Given the description of an element on the screen output the (x, y) to click on. 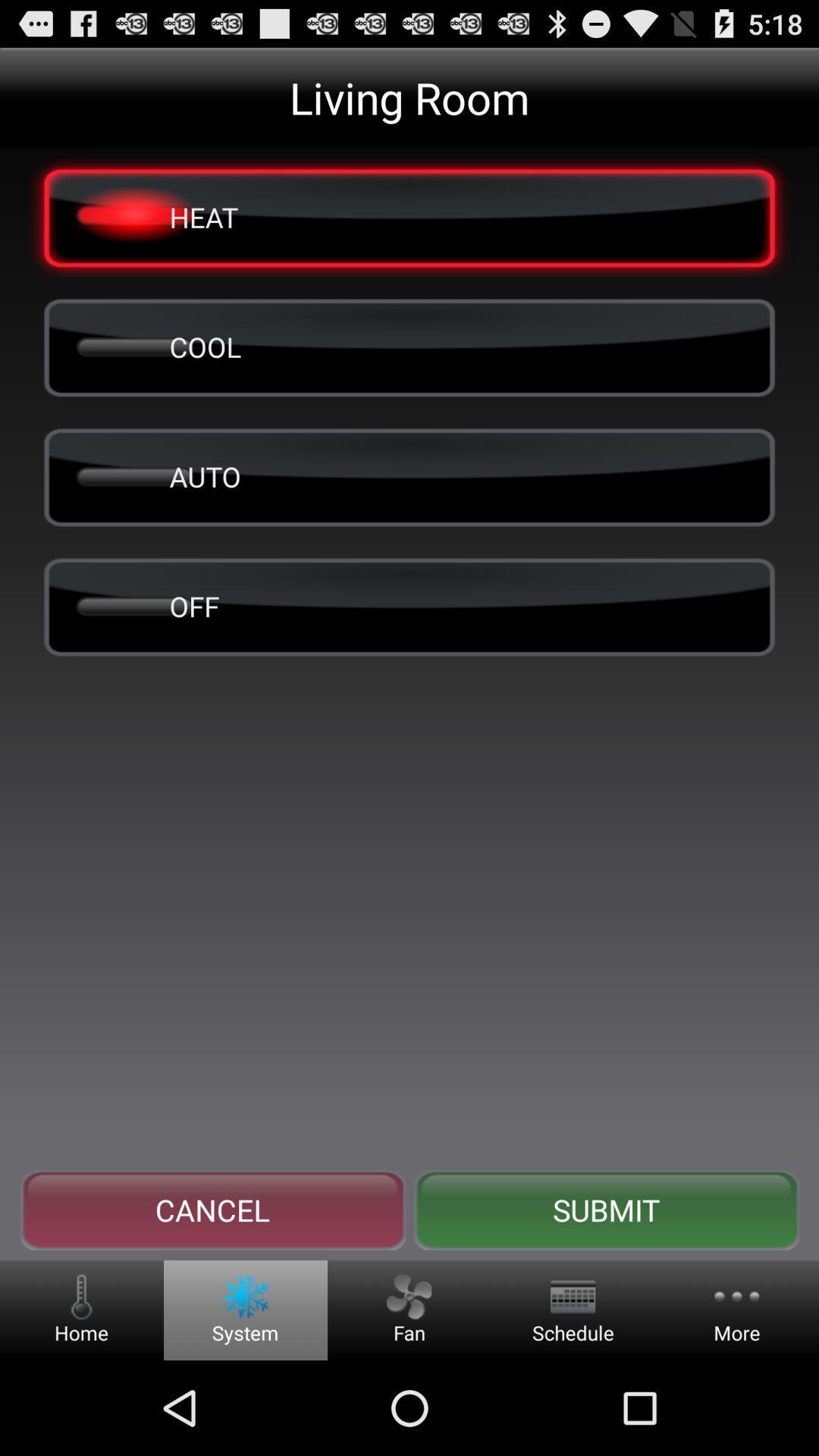
turn on icon to the right of cancel button (606, 1210)
